Given the description of an element on the screen output the (x, y) to click on. 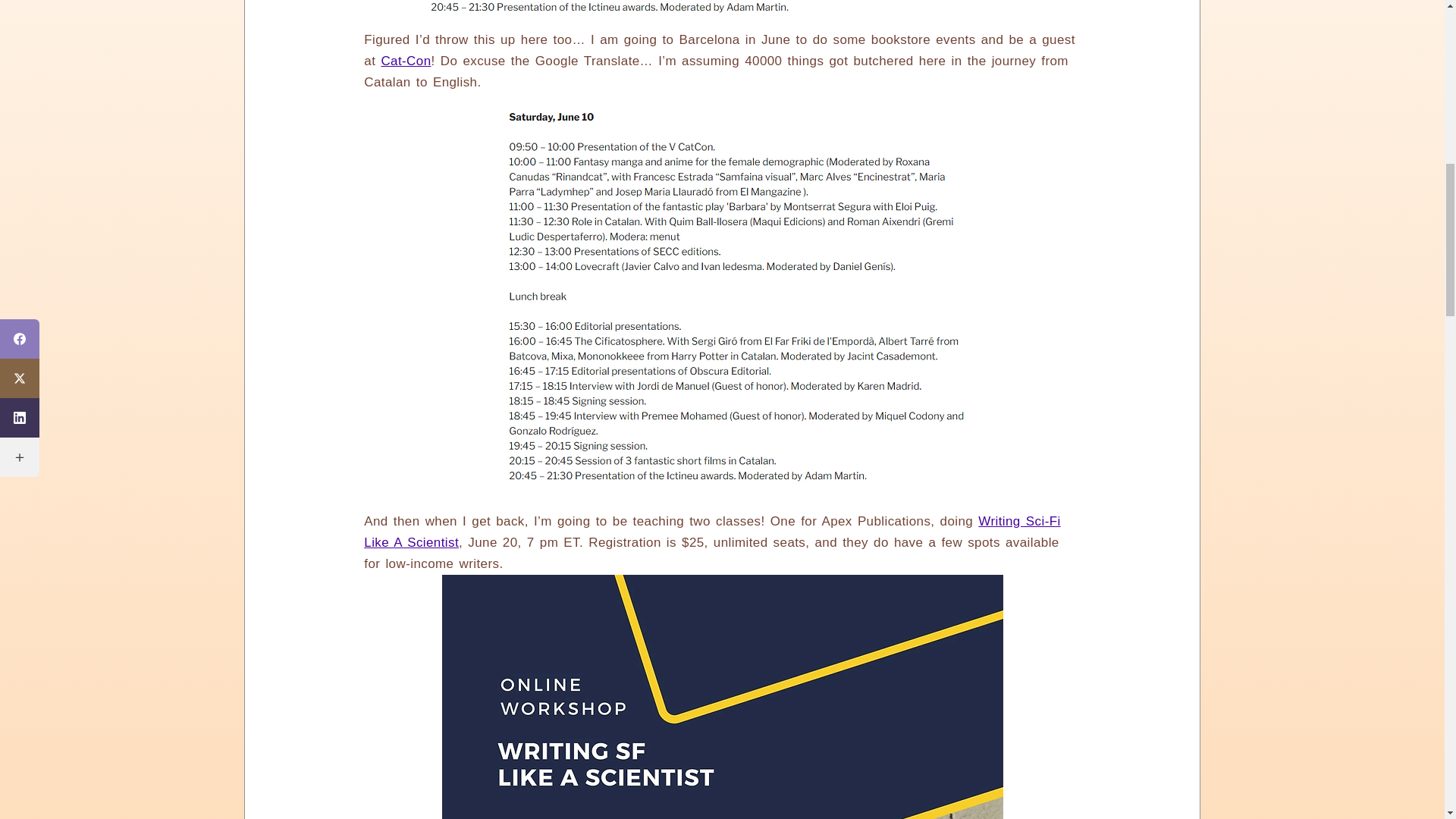
Cat-Con (405, 60)
Writing Sci-Fi Like A Scientist (711, 531)
